Given the description of an element on the screen output the (x, y) to click on. 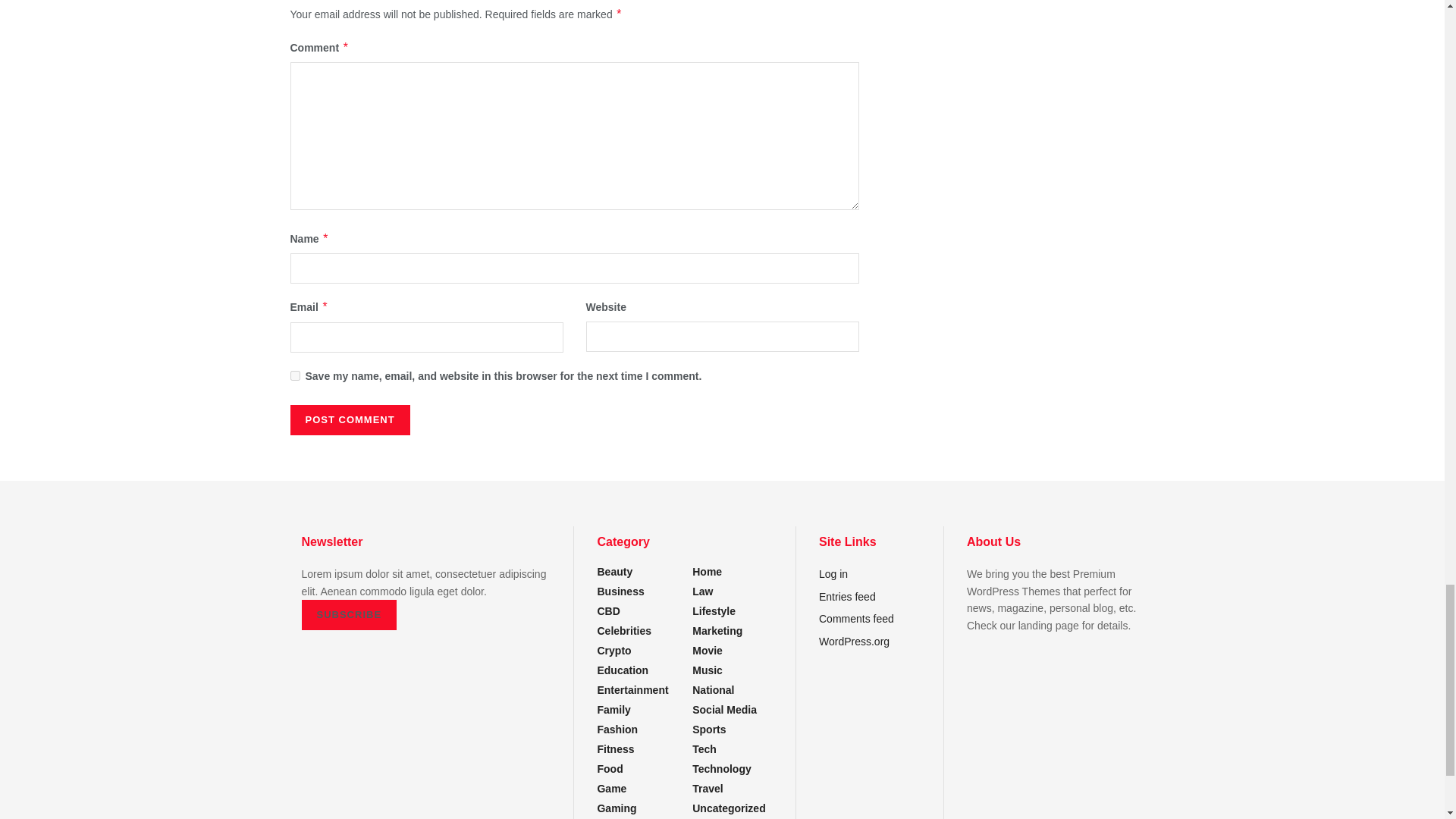
Post Comment (349, 419)
yes (294, 375)
